Given the description of an element on the screen output the (x, y) to click on. 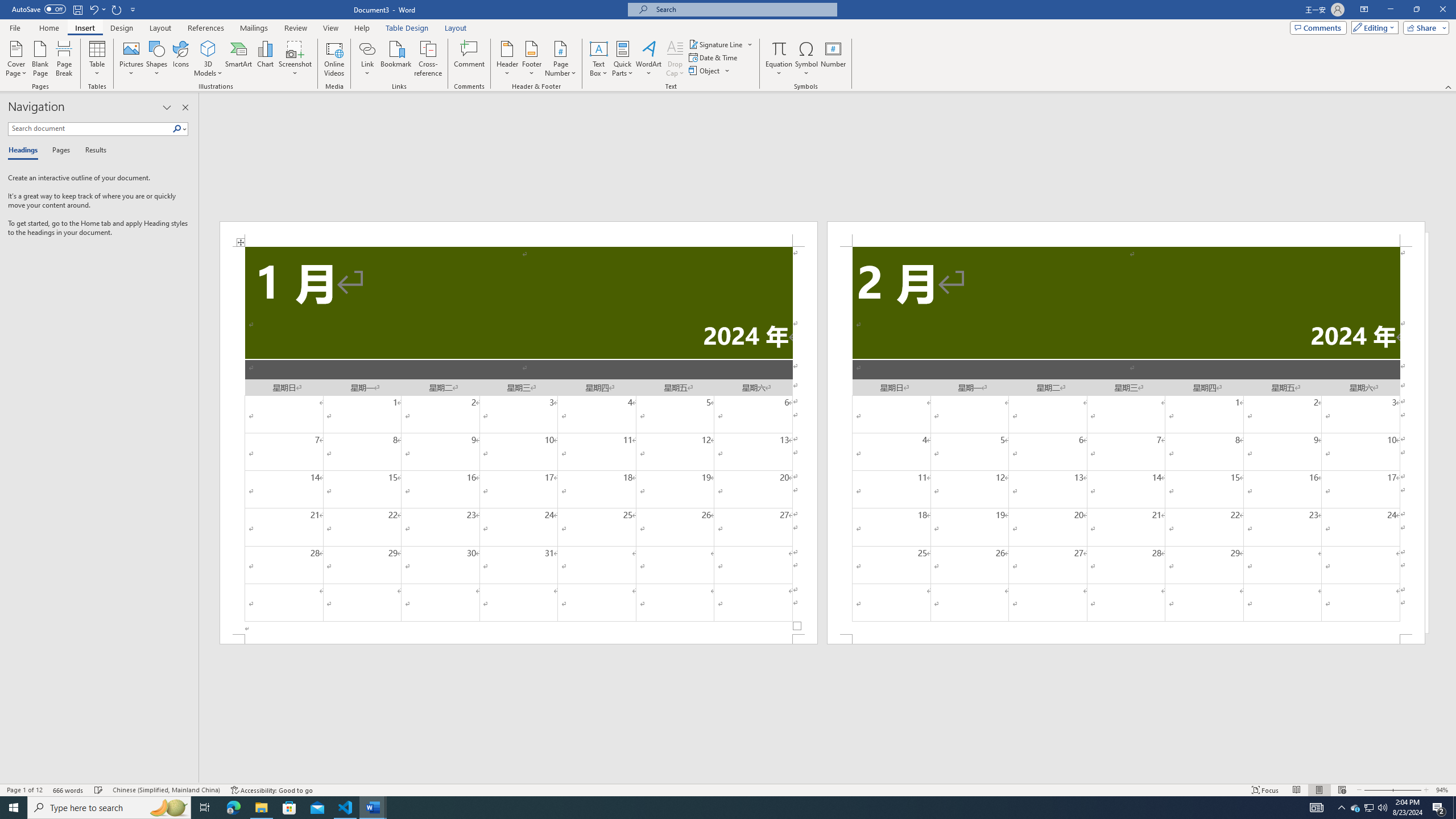
Mode (1372, 27)
Signature Line (716, 44)
Page Break (63, 58)
